Given the description of an element on the screen output the (x, y) to click on. 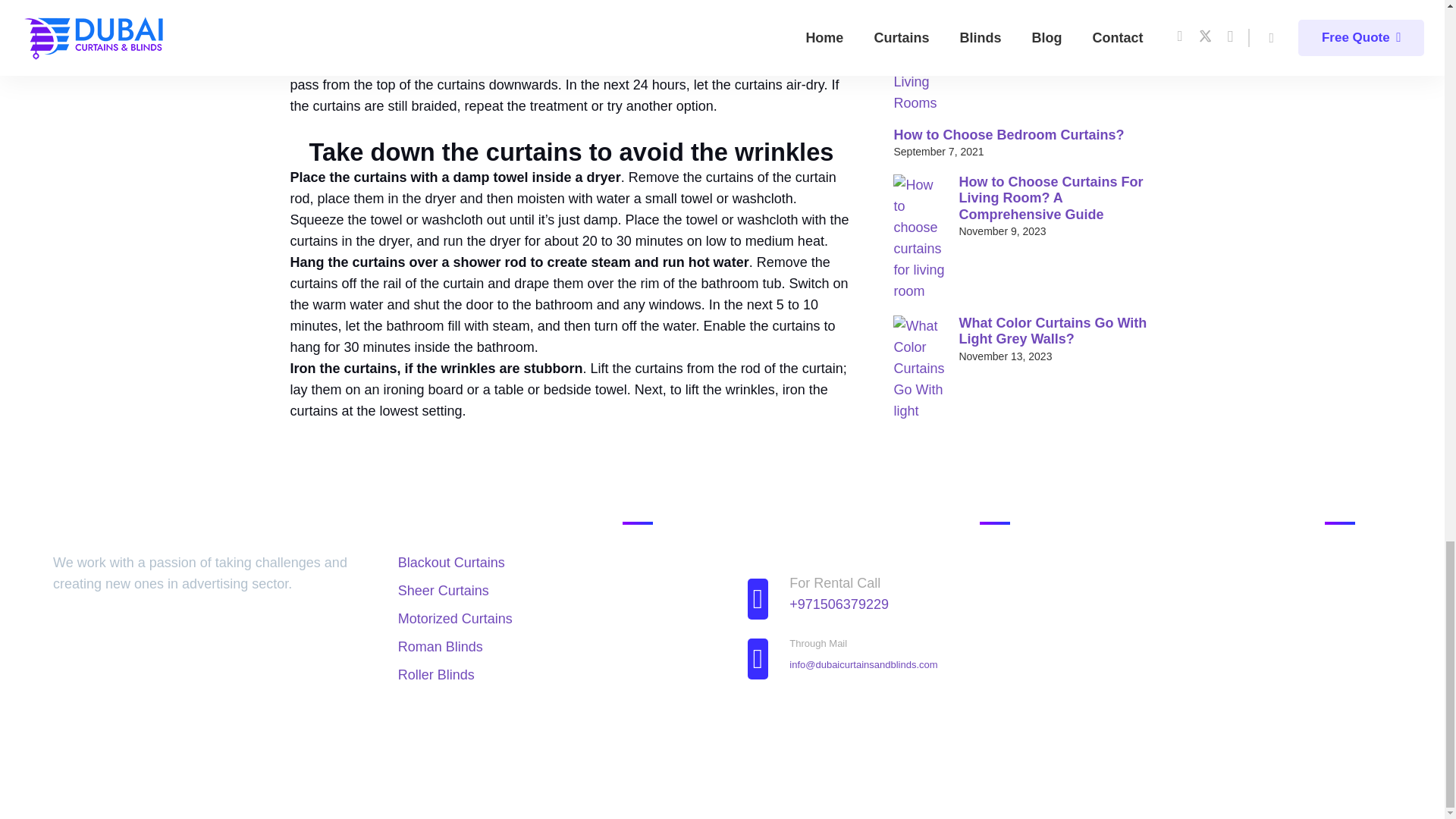
Blackout Curtains (451, 562)
Sheer Curtains (443, 590)
